Given the description of an element on the screen output the (x, y) to click on. 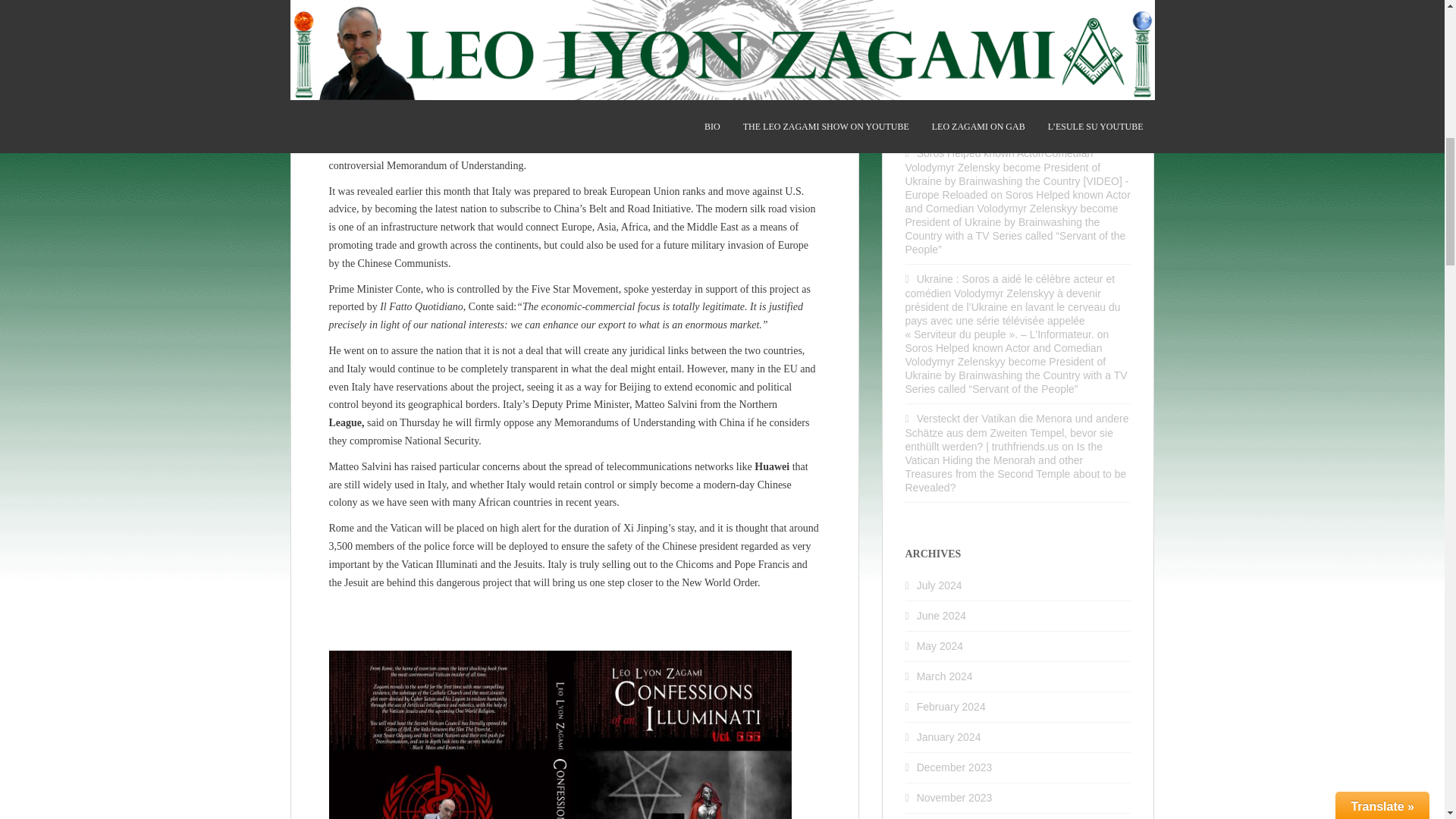
February 2024 (951, 706)
March 2024 (944, 676)
January 2024 (949, 736)
December 2023 (954, 767)
June 2024 (941, 615)
July 2024 (939, 585)
May 2024 (939, 645)
